Given the description of an element on the screen output the (x, y) to click on. 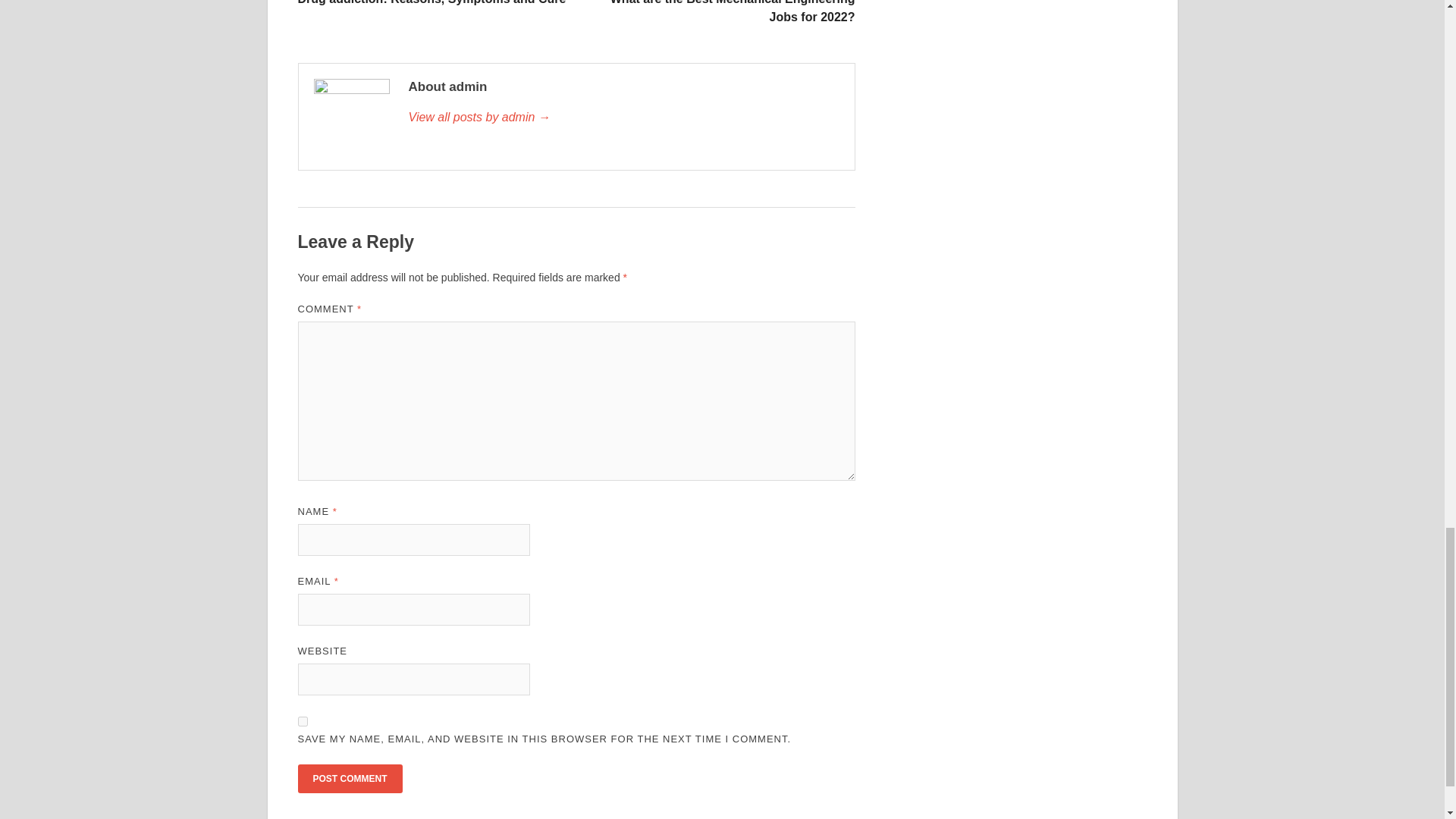
Post Comment (349, 778)
admin (622, 117)
yes (302, 721)
